Given the description of an element on the screen output the (x, y) to click on. 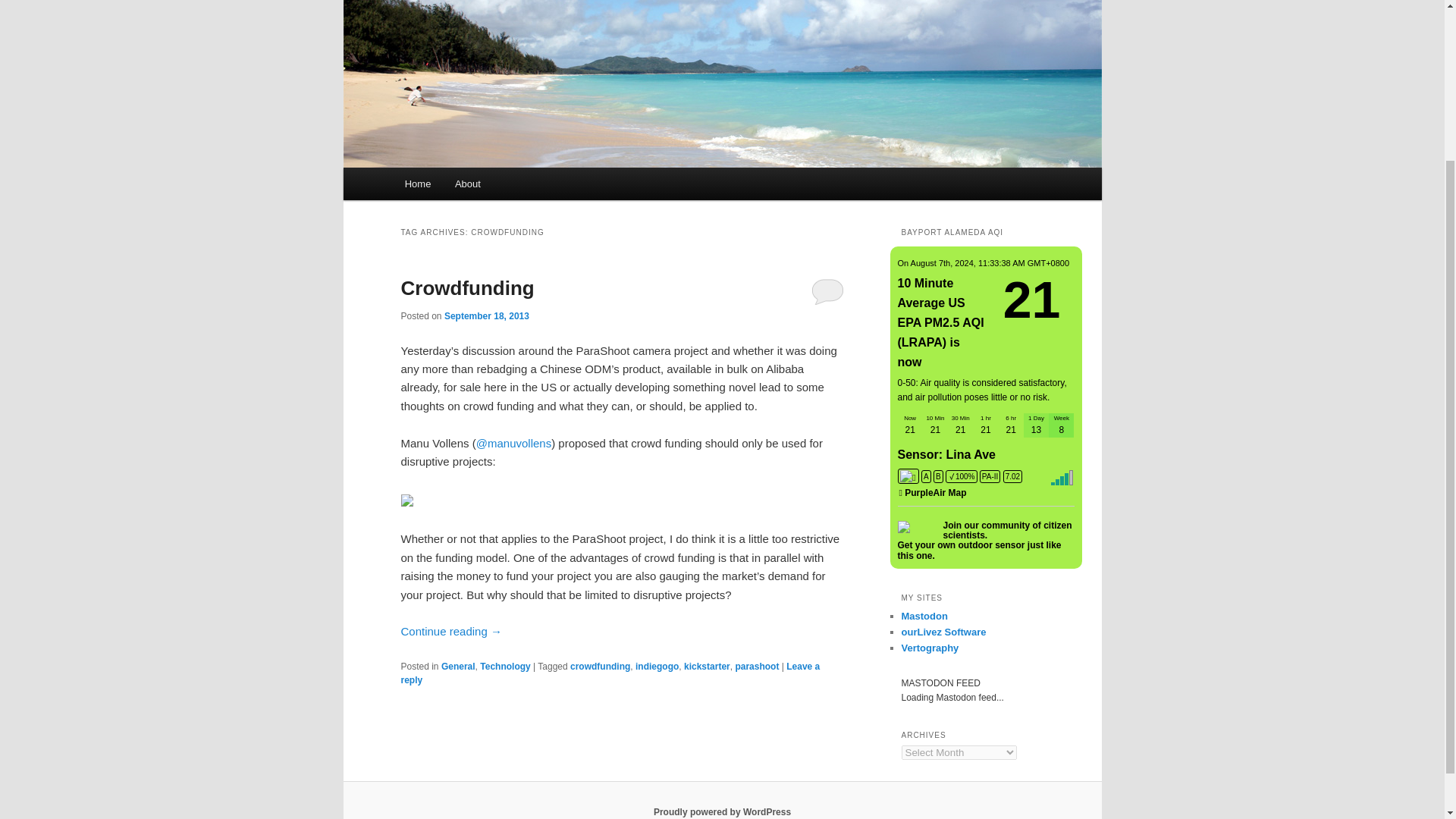
Mastodon (924, 615)
Leave a reply (609, 672)
Vertography (929, 647)
September 18, 2013 (486, 316)
crowdfunding (600, 665)
indiegogo (656, 665)
General (458, 665)
Semantic Personal Publishing Platform (721, 811)
Technology (504, 665)
Home (417, 183)
